Given the description of an element on the screen output the (x, y) to click on. 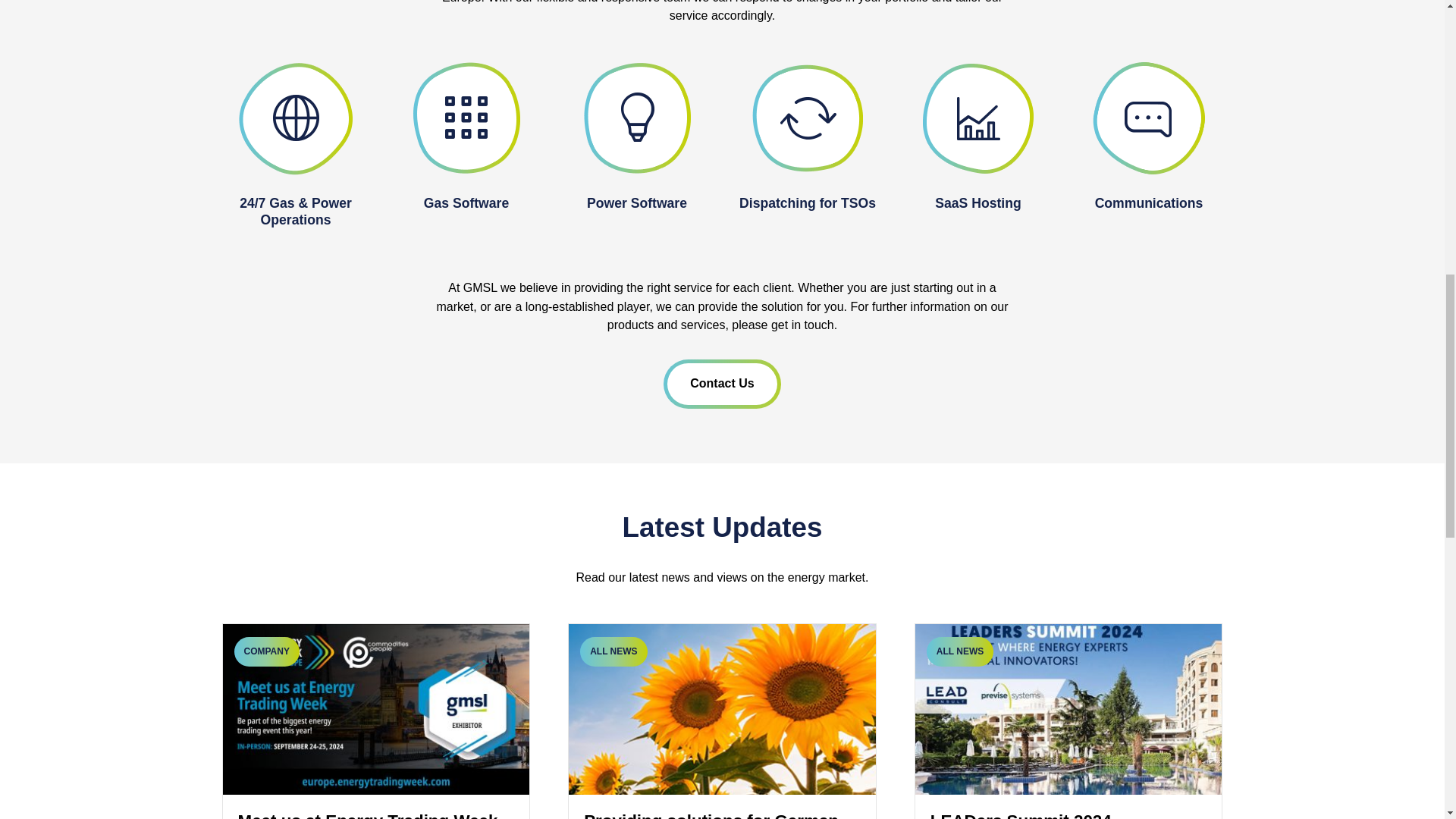
Gas Software (465, 202)
Power Software (636, 202)
Dispatching for TSOs (807, 202)
